Given the description of an element on the screen output the (x, y) to click on. 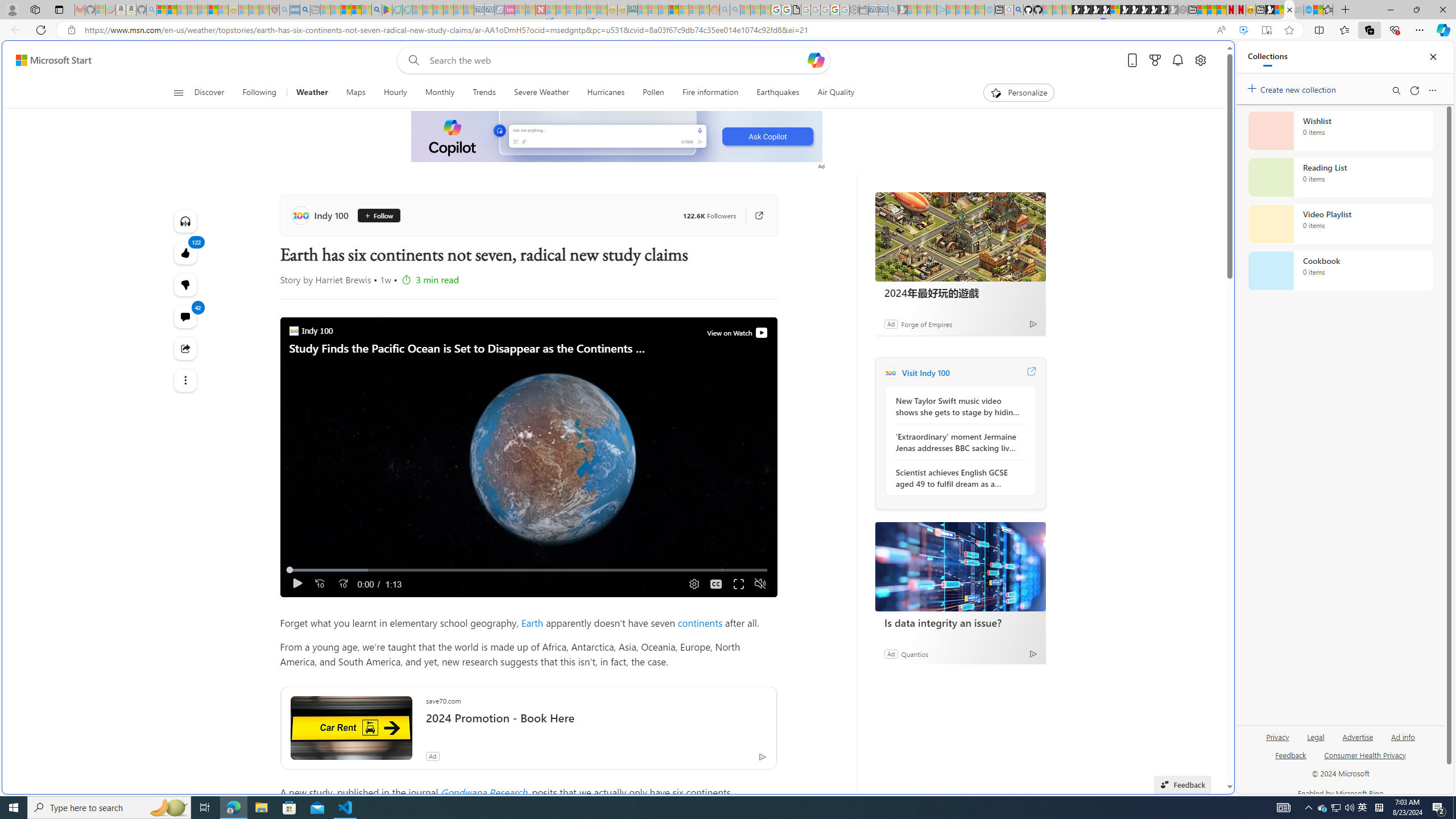
Play Cave FRVR in your browser | Games from Microsoft Start (922, 242)
utah sues federal government - Search (304, 9)
Microsoft rewards (1154, 60)
Progress Bar (528, 569)
Captions (716, 583)
Recipes - MSN - Sleeping (243, 9)
Earthquakes (777, 92)
